Given the description of an element on the screen output the (x, y) to click on. 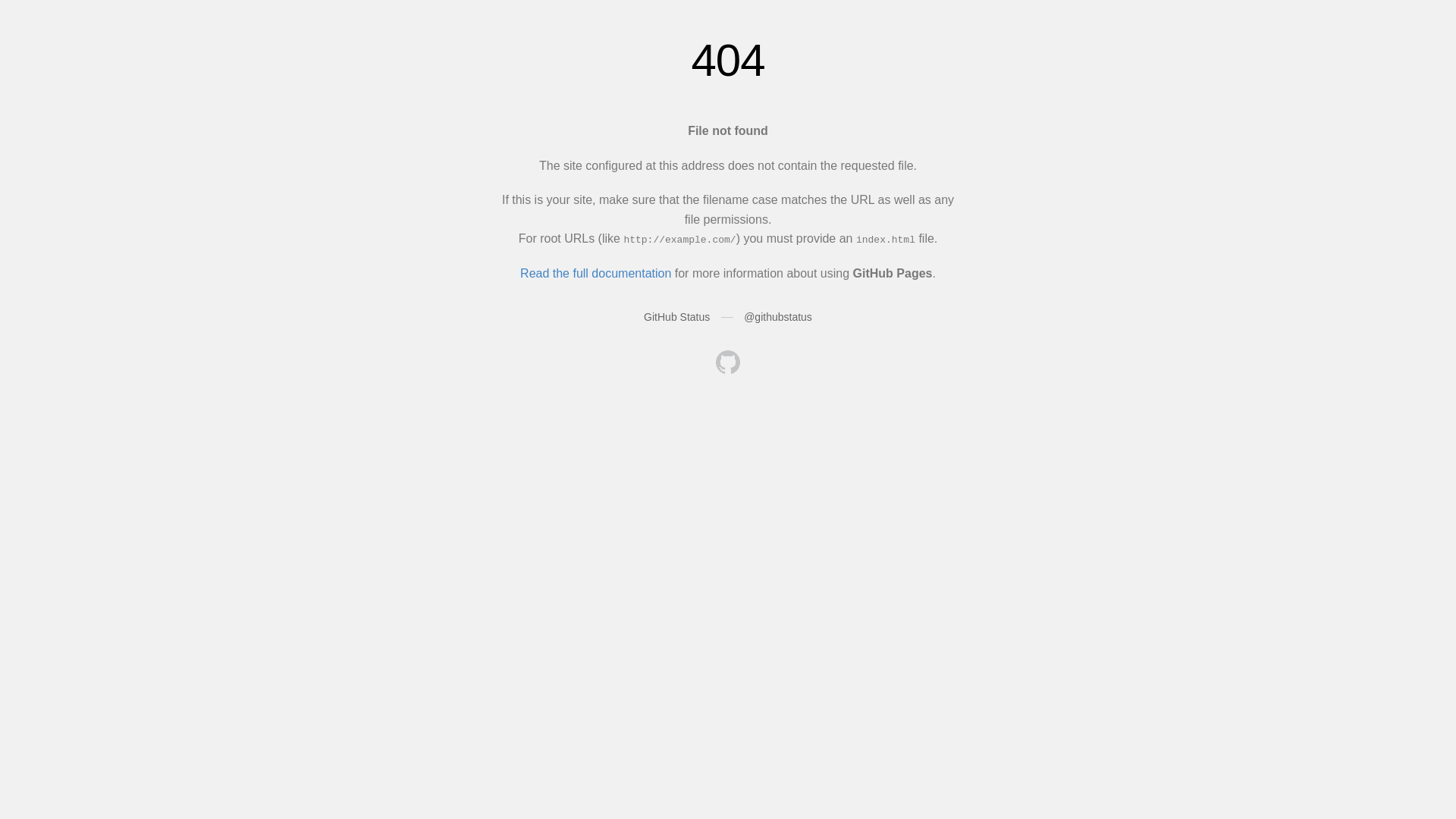
@githubstatus Element type: text (777, 316)
GitHub Status Element type: text (676, 316)
Read the full documentation Element type: text (595, 272)
